Given the description of an element on the screen output the (x, y) to click on. 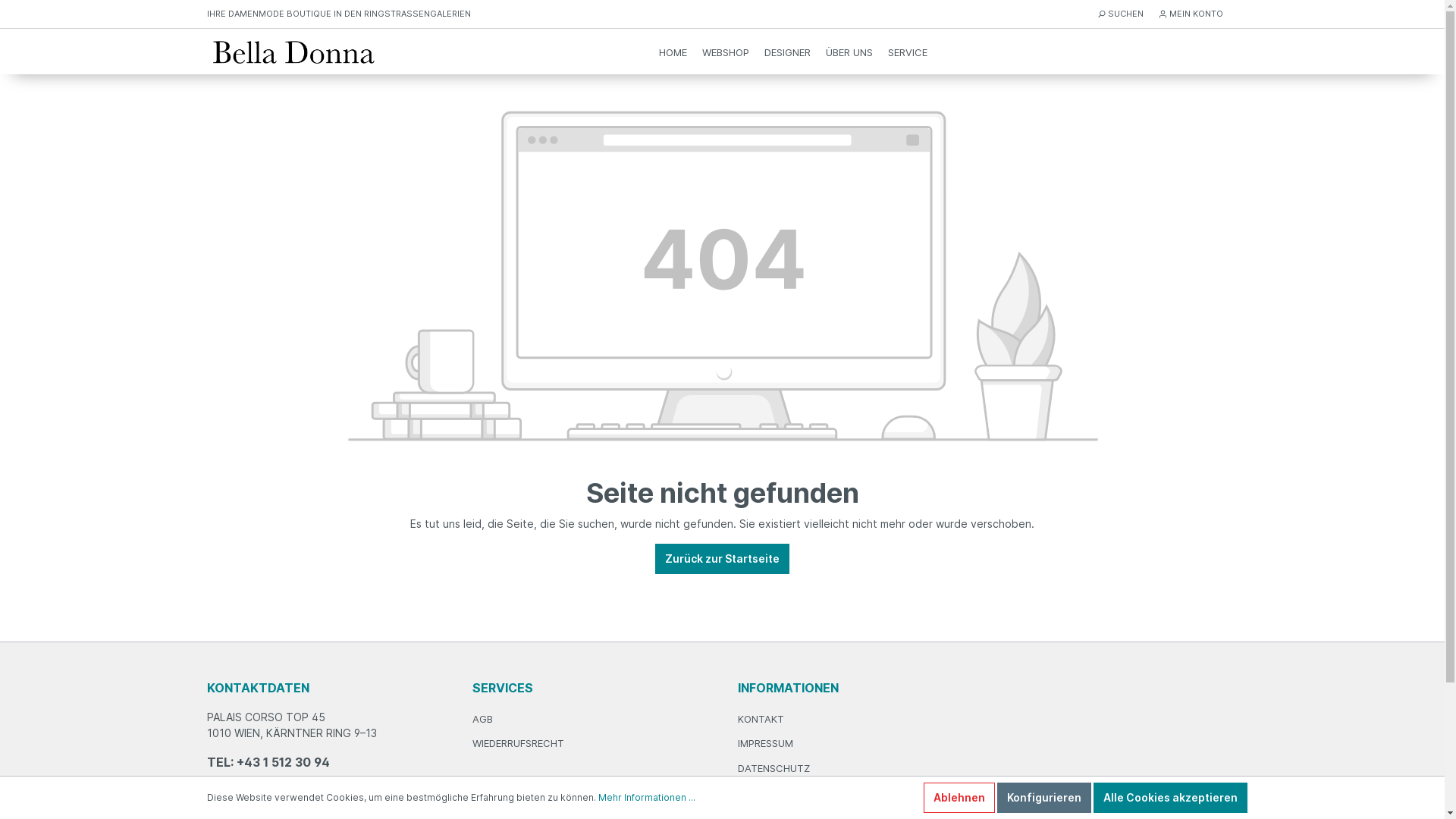
HOME Element type: text (672, 51)
KONTAKT Element type: text (760, 718)
SERVICE Element type: text (907, 51)
Warenkorb Element type: hover (1227, 52)
WIEDERRUFSRECHT Element type: text (517, 743)
Zur Startseite wechseln Element type: hover (294, 50)
Alle Cookies akzeptieren Element type: text (1170, 797)
TEL: +43 1 512 30 94 Element type: text (323, 761)
Konfigurieren Element type: text (1043, 797)
Ablehnen Element type: text (958, 797)
DESIGNER Element type: text (787, 51)
WEBSHOP Element type: text (725, 51)
DATENSCHUTZ Element type: text (773, 767)
Mehr Informationen ... Element type: text (645, 797)
IMPRESSUM Element type: text (764, 743)
AGB Element type: text (481, 718)
